Given the description of an element on the screen output the (x, y) to click on. 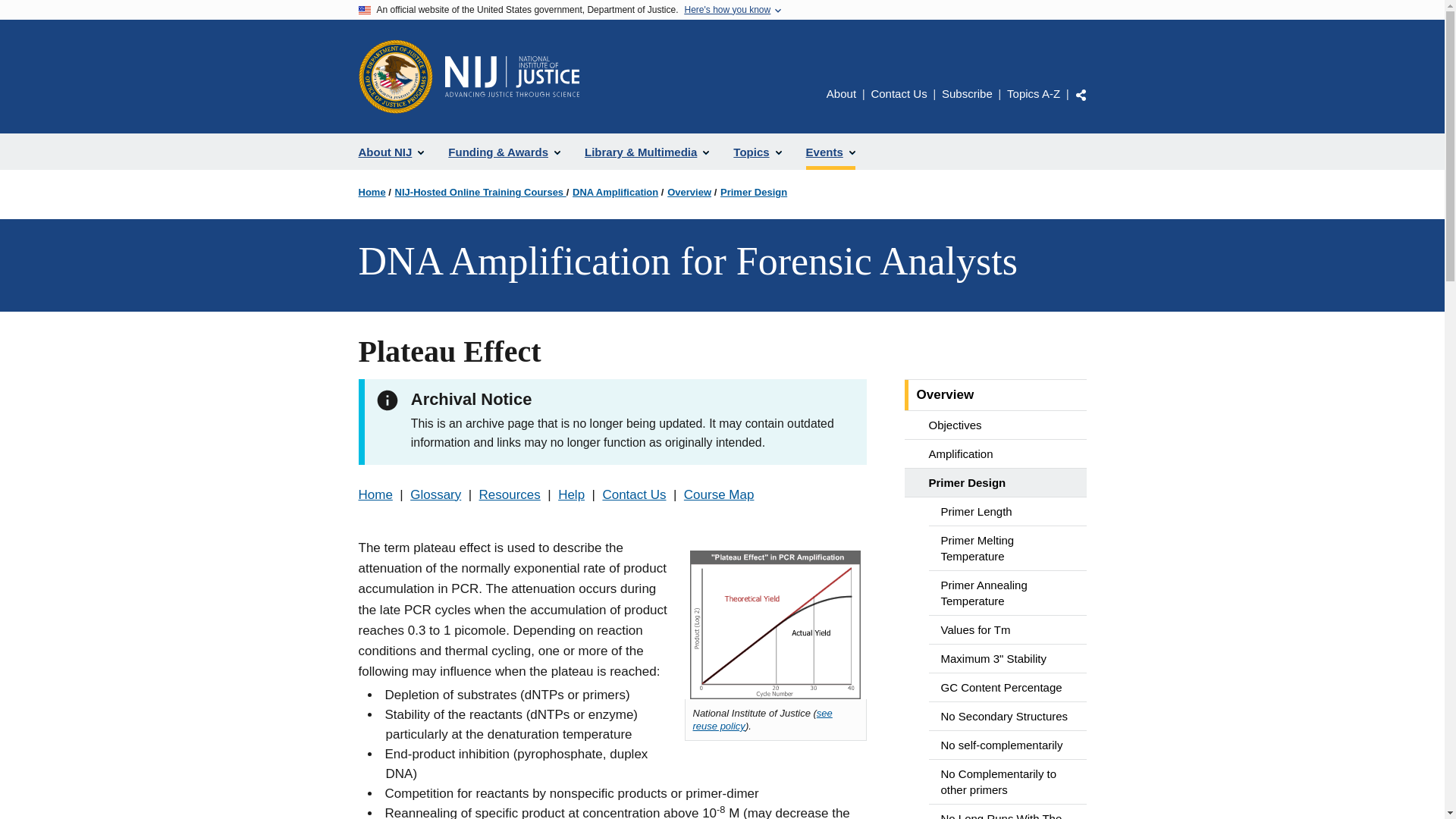
Help (571, 494)
Contact Us (898, 93)
Home (374, 494)
Subscribe (967, 93)
Office of Justice Programs (395, 76)
About (841, 93)
NIJ-Hosted Online Training Courses (480, 192)
Here's how you know (727, 9)
Plateau Effect in PCR Amplification (775, 624)
Home (511, 76)
